Given the description of an element on the screen output the (x, y) to click on. 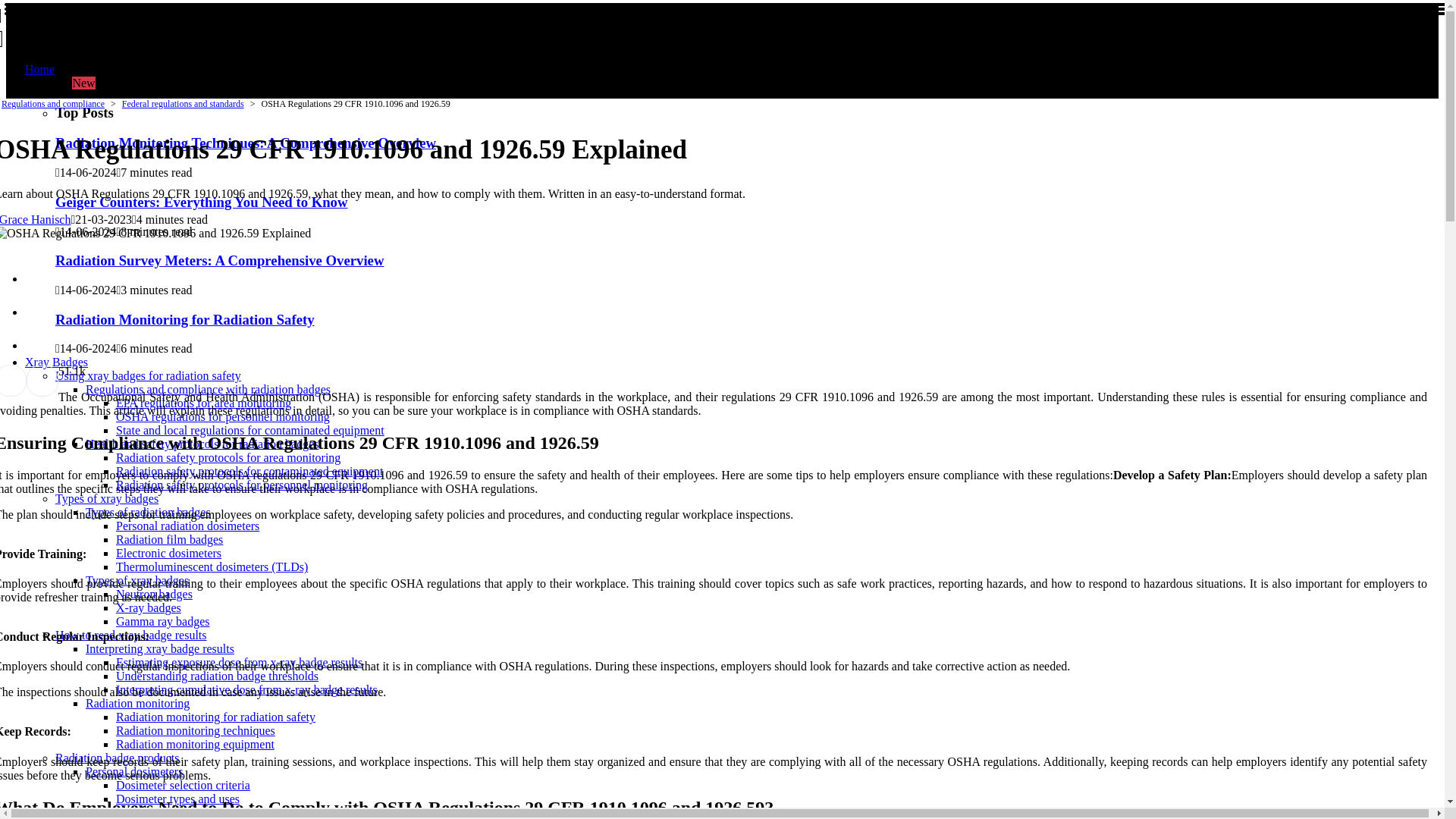
Interpreting xray badge results (159, 648)
Radiation safety protocols for area monitoring (228, 457)
Radiation safety protocols for contaminated equipment (249, 471)
Like (61, 370)
Health and safety protocols for radiation badges (201, 443)
Radiation monitoring for radiation safety (215, 716)
Understanding radiation badge thresholds (217, 675)
Neutron badges (217, 27)
State and local regulations for contaminated equipment (154, 594)
Types of radiation badges (250, 430)
Personal radiation dosimeters (148, 512)
Radiation film badges (187, 525)
Xray Badges (169, 539)
Estimating exposure dose from x-ray badge results (55, 361)
